Given the description of an element on the screen output the (x, y) to click on. 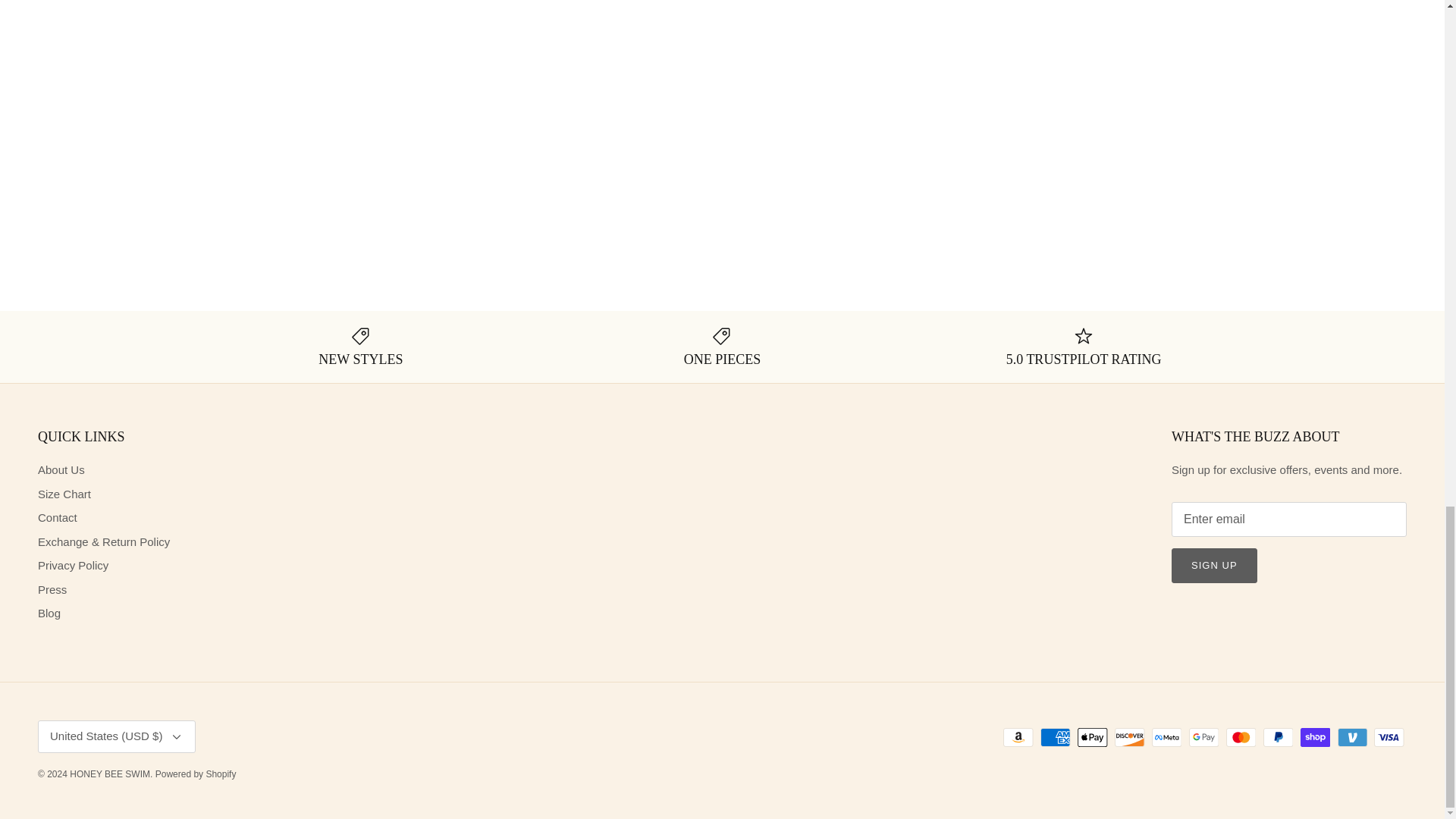
American Express (1055, 737)
Apple Pay (1092, 737)
Discover (1129, 737)
Amazon (1018, 737)
Meta Pay (1166, 737)
